Given the description of an element on the screen output the (x, y) to click on. 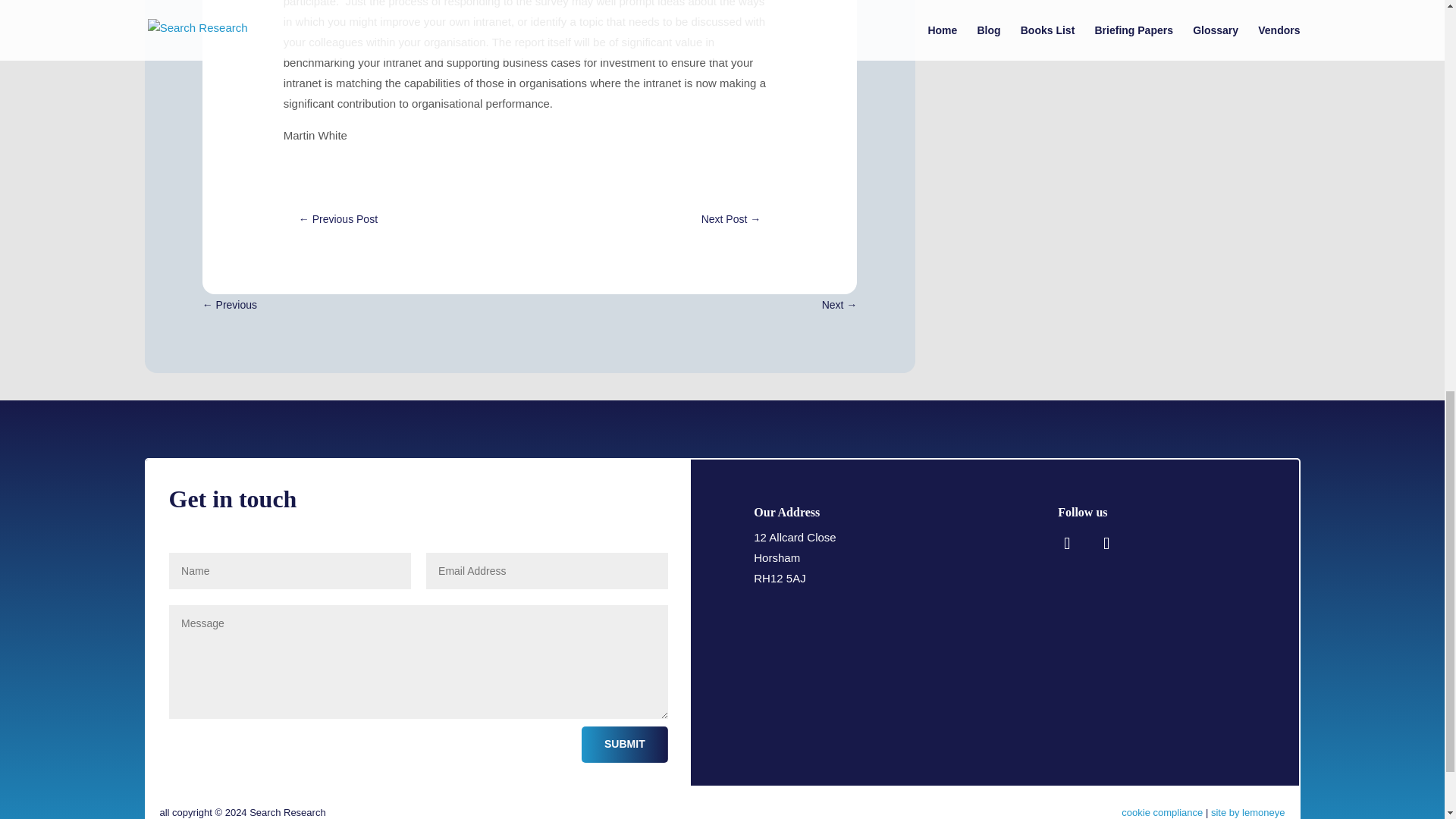
Follow on X (1105, 543)
Follow on LinkedIn (1066, 543)
cookie compliance (1161, 812)
SUBMIT (624, 744)
site by lemoneye (1248, 812)
